Given the description of an element on the screen output the (x, y) to click on. 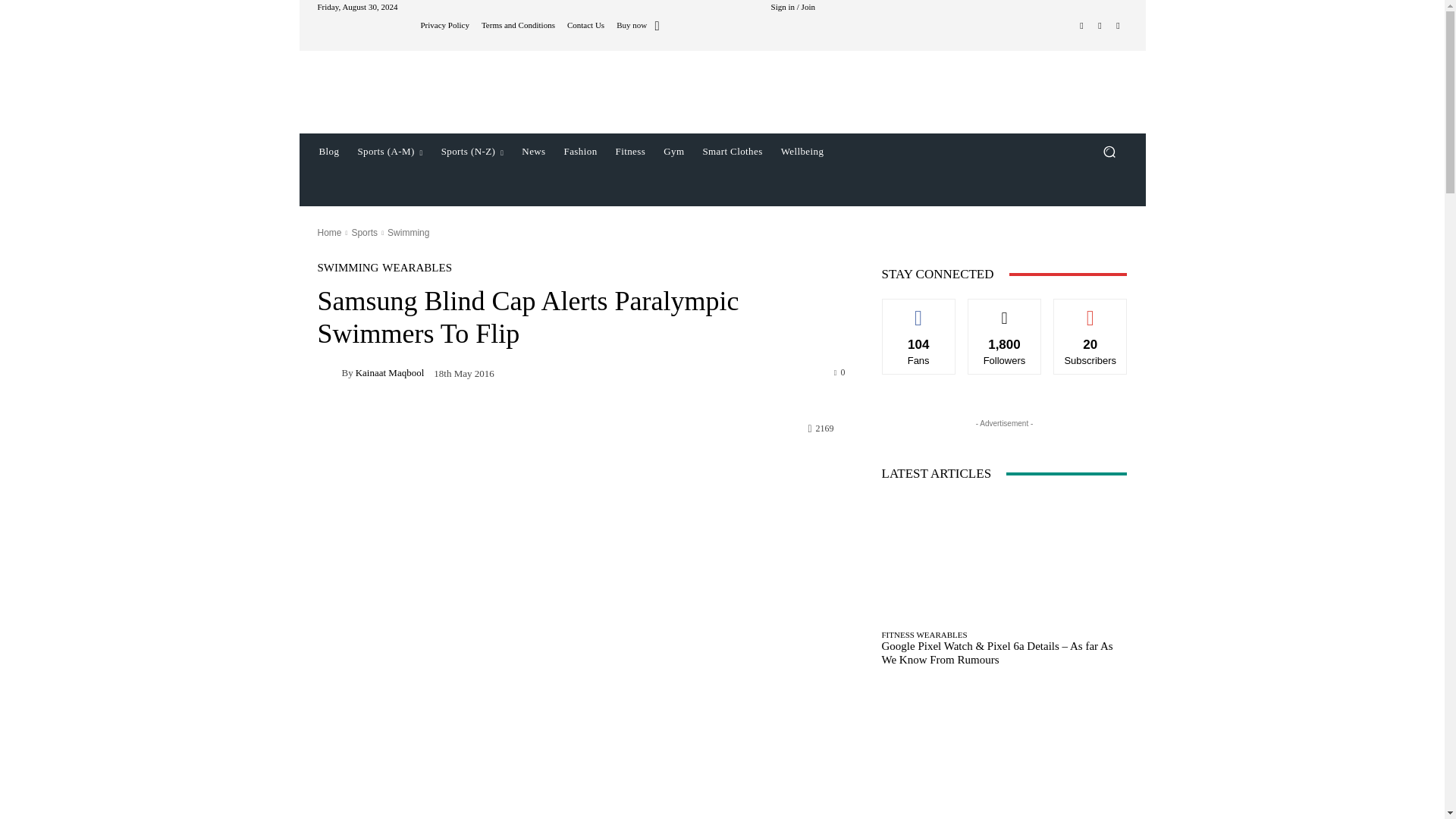
Kainaat Maqbool (328, 372)
Blog (327, 151)
Instagram (1099, 25)
Facebook (1080, 25)
Terms and Conditions (517, 25)
View all posts in Swimming (408, 232)
Twitter (1117, 25)
Privacy Policy (444, 25)
Contact Us (585, 25)
View all posts in Sports (363, 232)
